Given the description of an element on the screen output the (x, y) to click on. 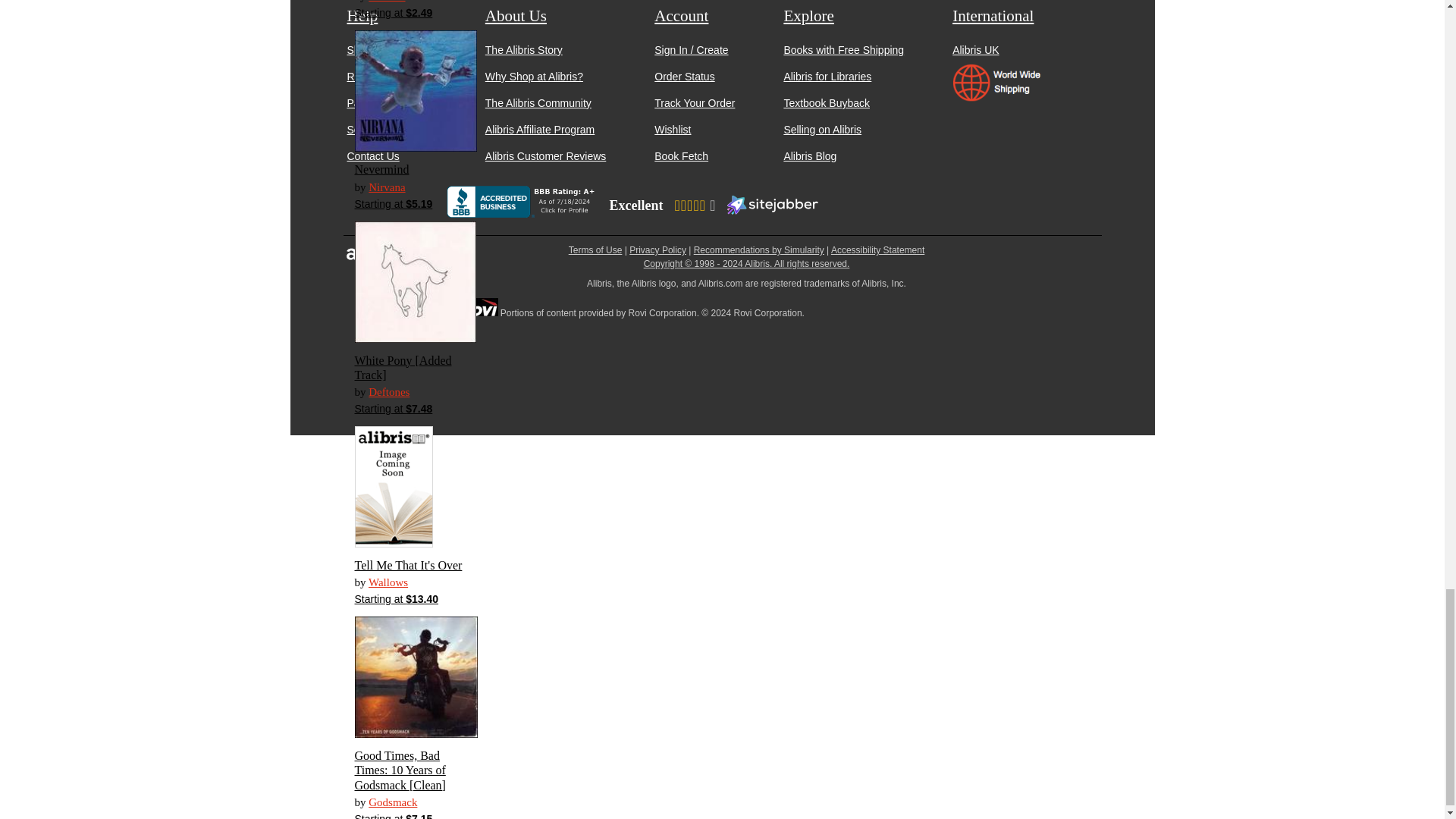
4.7 star rating (694, 205)
4.7 star rating (694, 206)
